Given the description of an element on the screen output the (x, y) to click on. 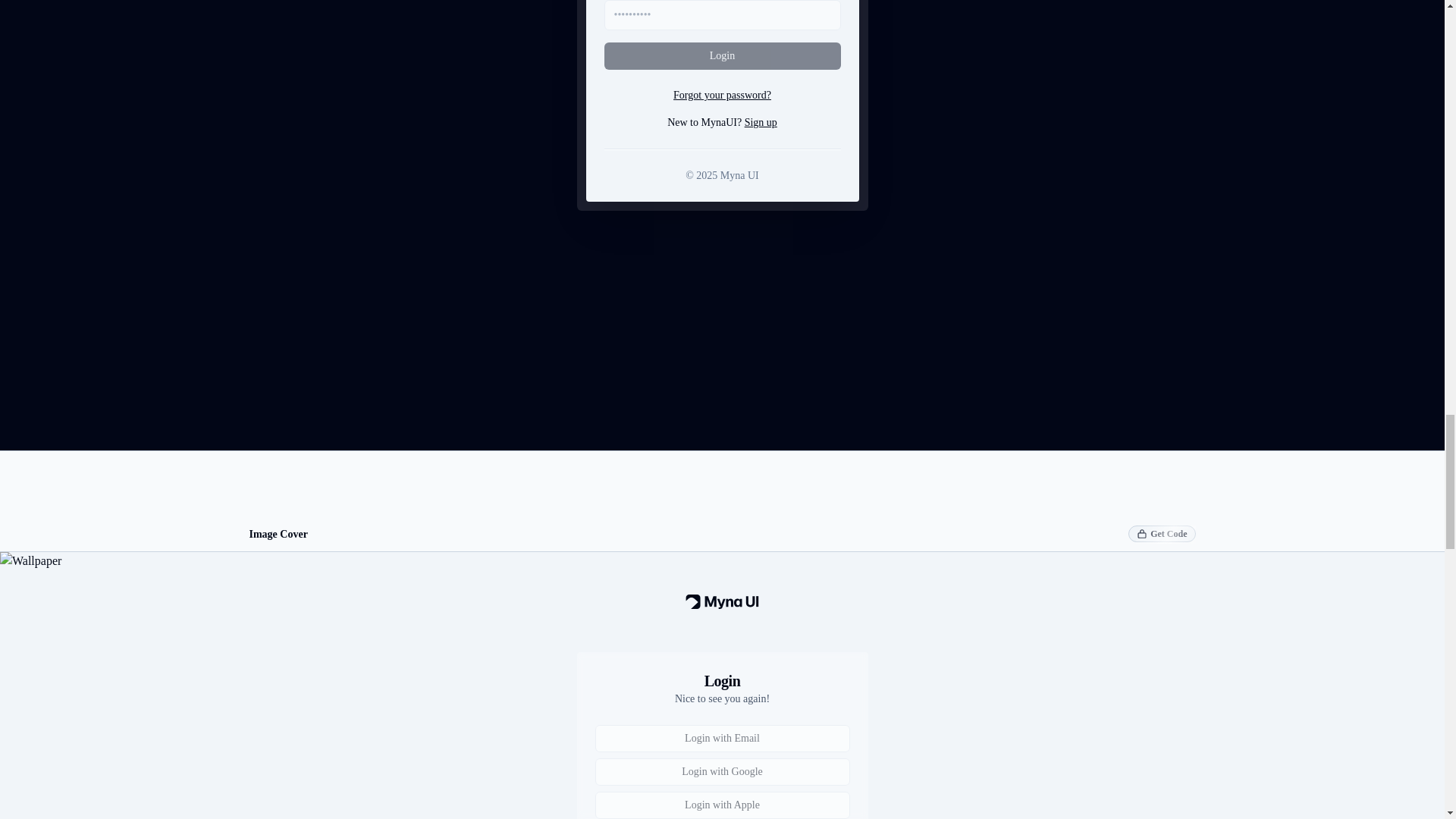
Login with Email (721, 738)
Sign up (760, 122)
Login with Google (721, 771)
Login with Apple (721, 805)
Get Code (1161, 533)
Login (722, 55)
Forgot your password? (722, 95)
Image Cover (277, 533)
